Given the description of an element on the screen output the (x, y) to click on. 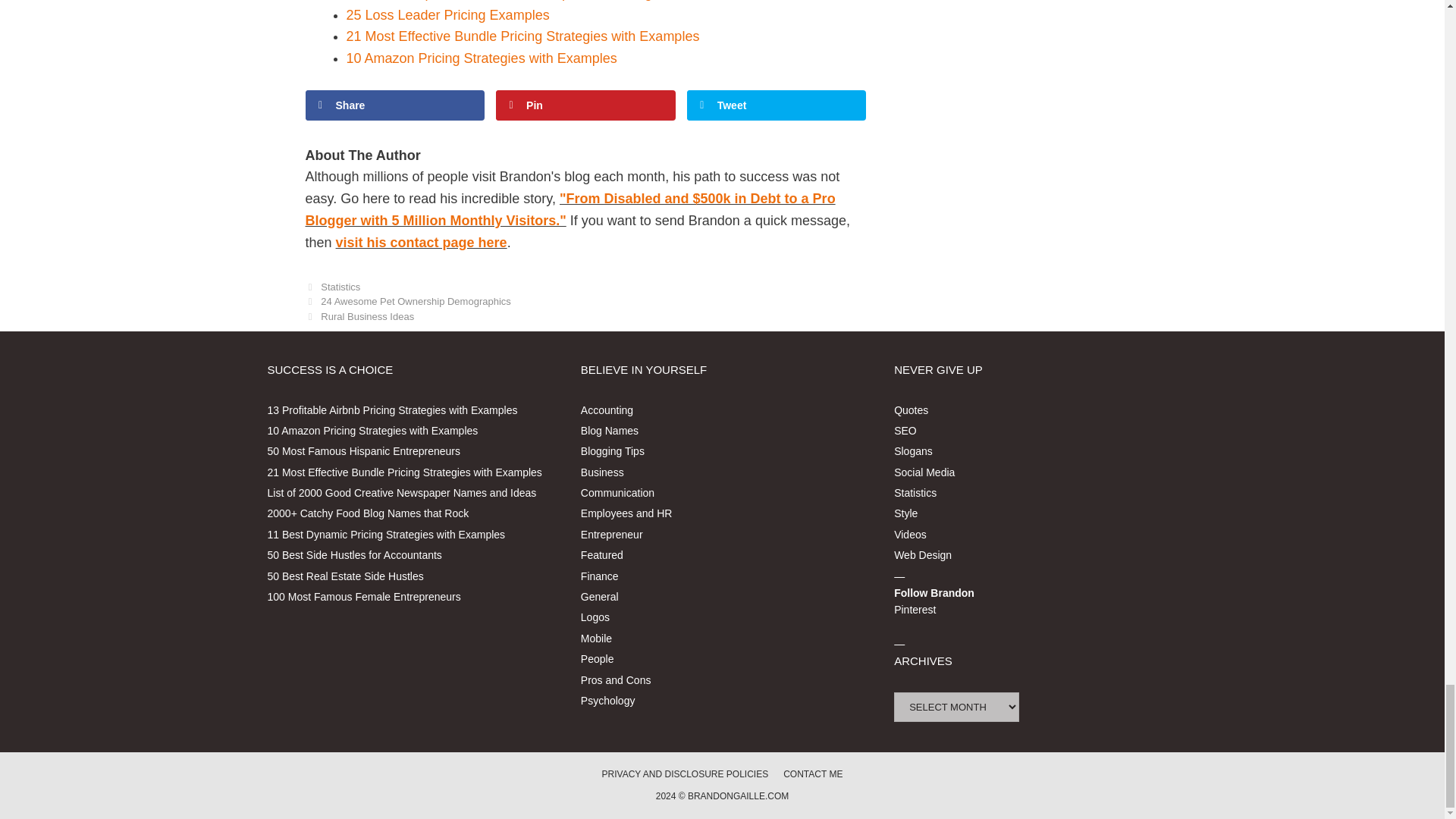
13 Profitable Airbnb Pricing Strategies with Examples (391, 409)
Pin (585, 105)
Next (358, 316)
24 Awesome Pet Ownership Demographics (415, 301)
Rural Business Ideas (366, 316)
10 Amazon Pricing Strategies with Examples (371, 430)
25 Loss Leader Pricing Examples (447, 14)
21 Most Effective Bundle Pricing Strategies with Examples (522, 36)
Share (394, 105)
Previous (407, 301)
